Given the description of an element on the screen output the (x, y) to click on. 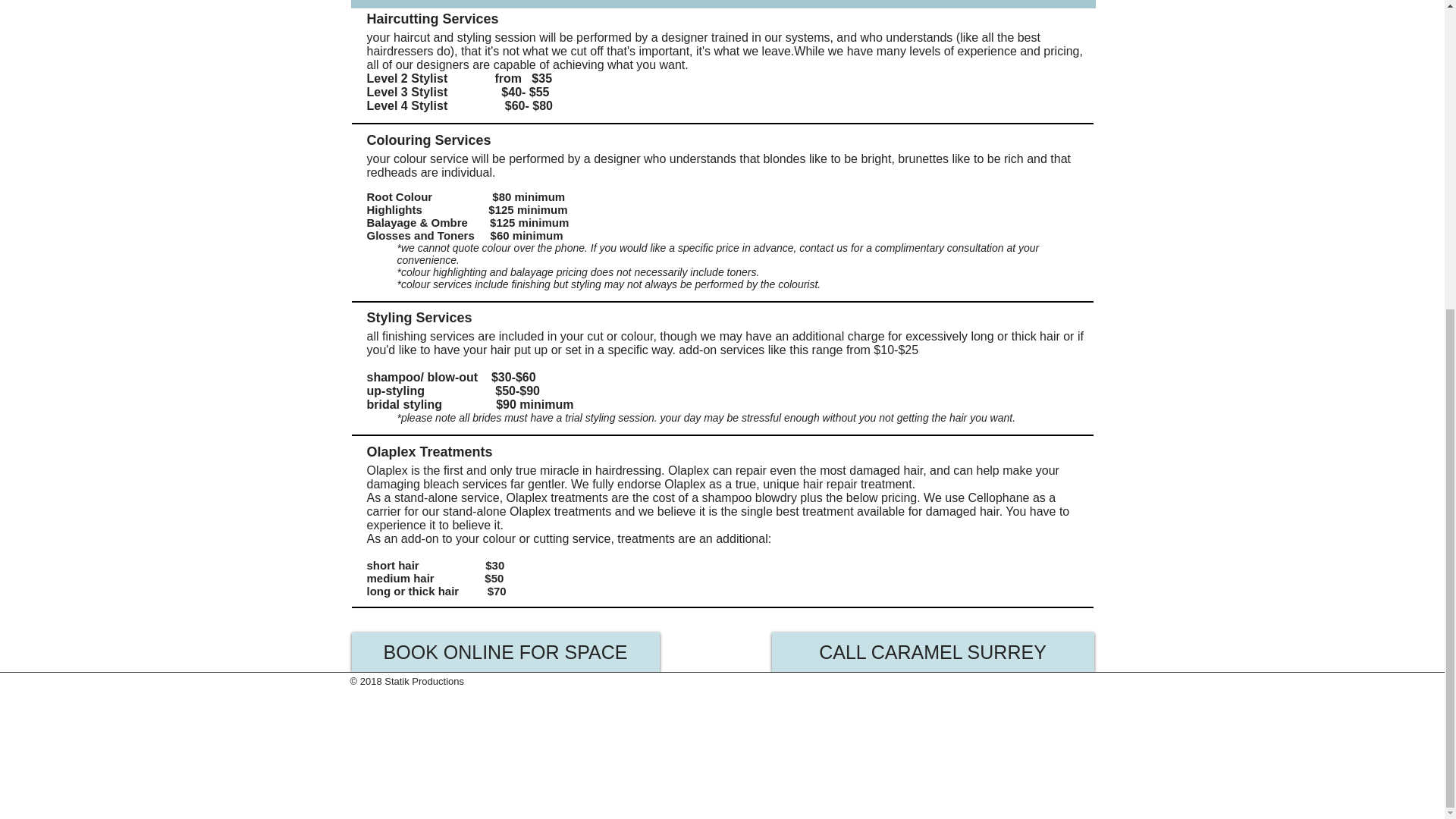
CALL CARAMEL SURREY (932, 651)
BOOK ONLINE FOR SPACE (505, 651)
